Given the description of an element on the screen output the (x, y) to click on. 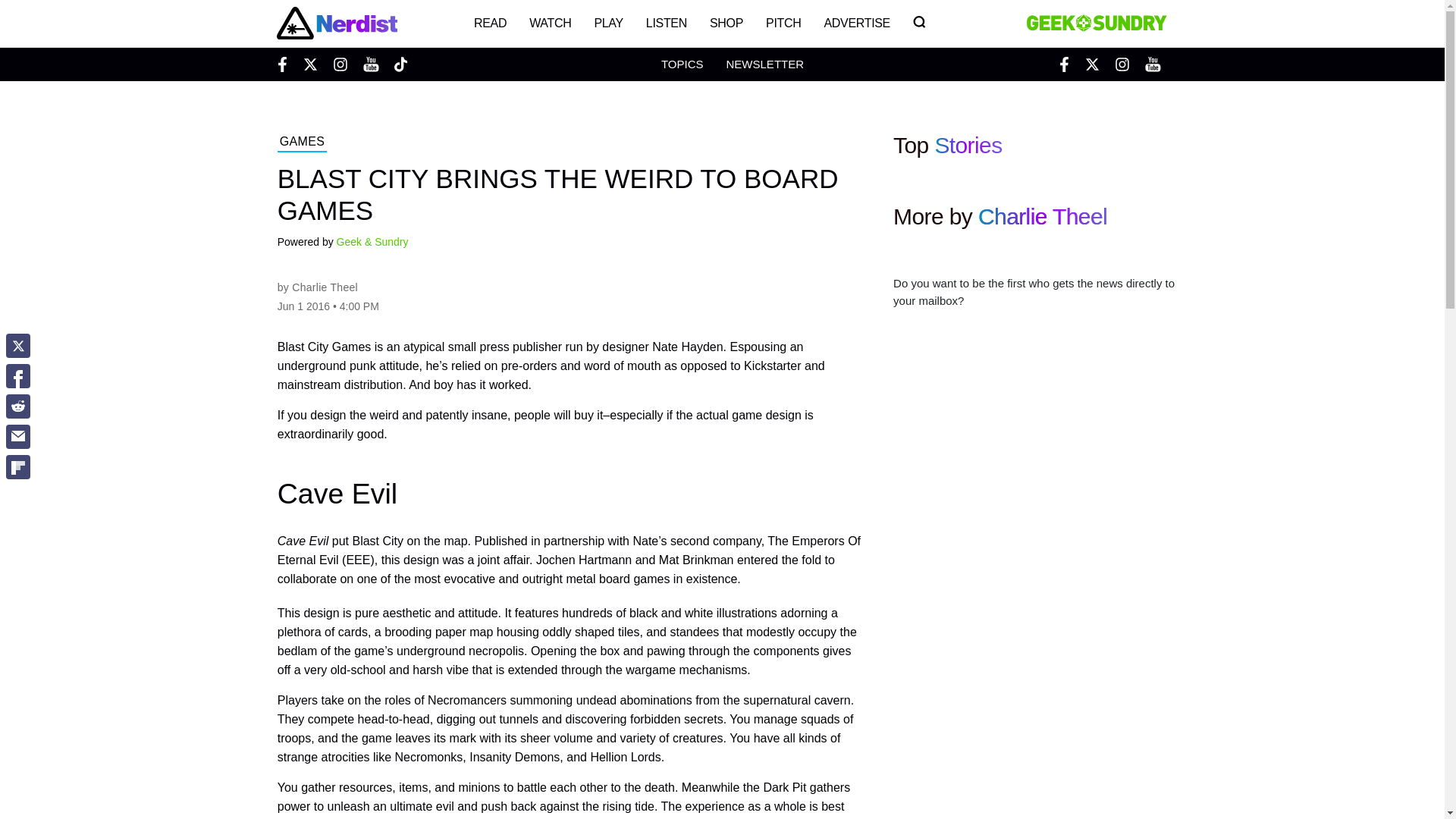
Twitter Nerdist (309, 63)
PLAY (607, 22)
Charlie Theel (1042, 216)
Youtube Nerdist (370, 63)
Twitter Geek and Sundry (1091, 63)
WATCH (550, 22)
Nerdist (336, 23)
LISTEN (666, 22)
SHOP (726, 22)
ADVERTISE (856, 22)
